Given the description of an element on the screen output the (x, y) to click on. 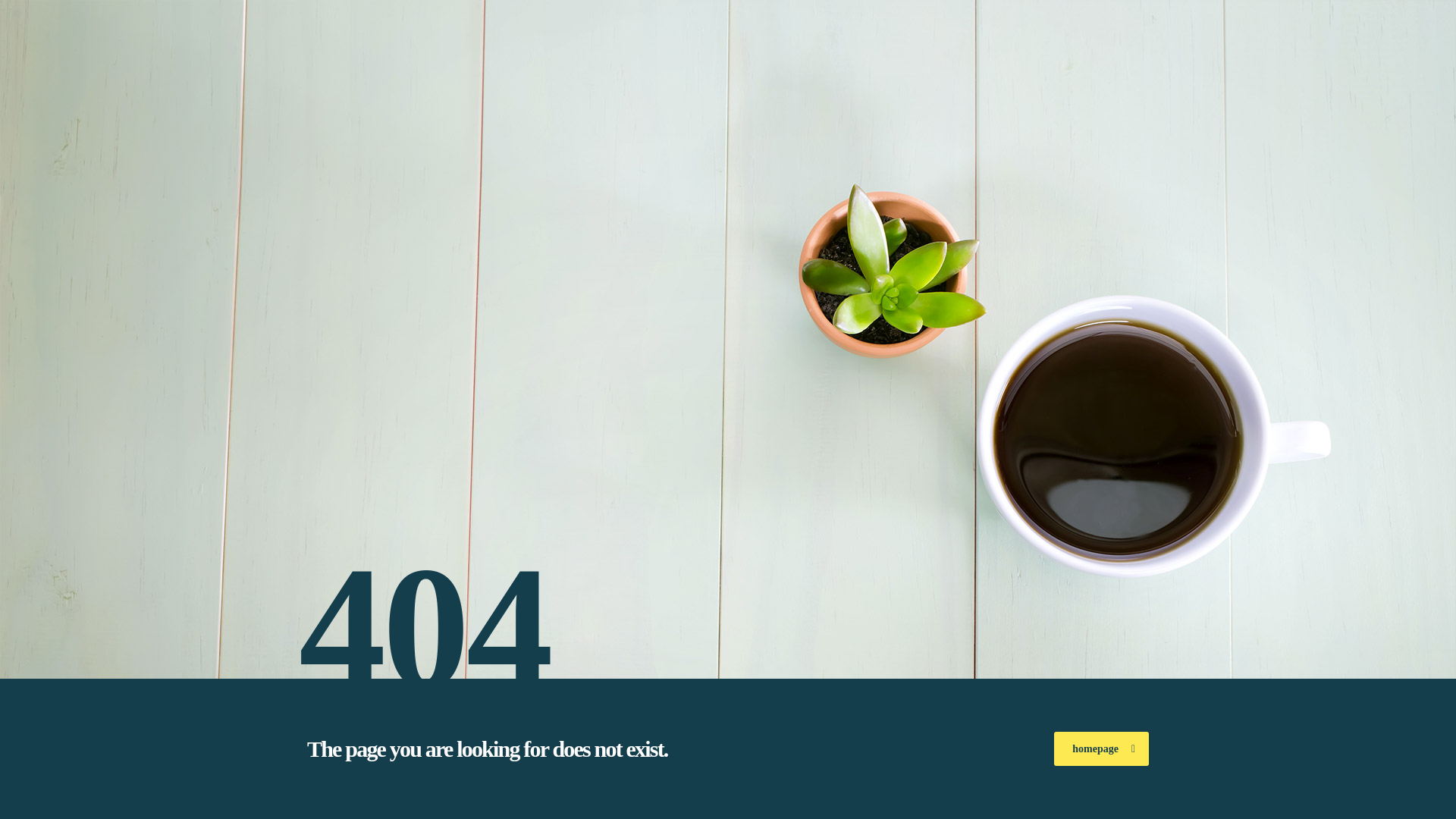
homepage (1101, 748)
